Given the description of an element on the screen output the (x, y) to click on. 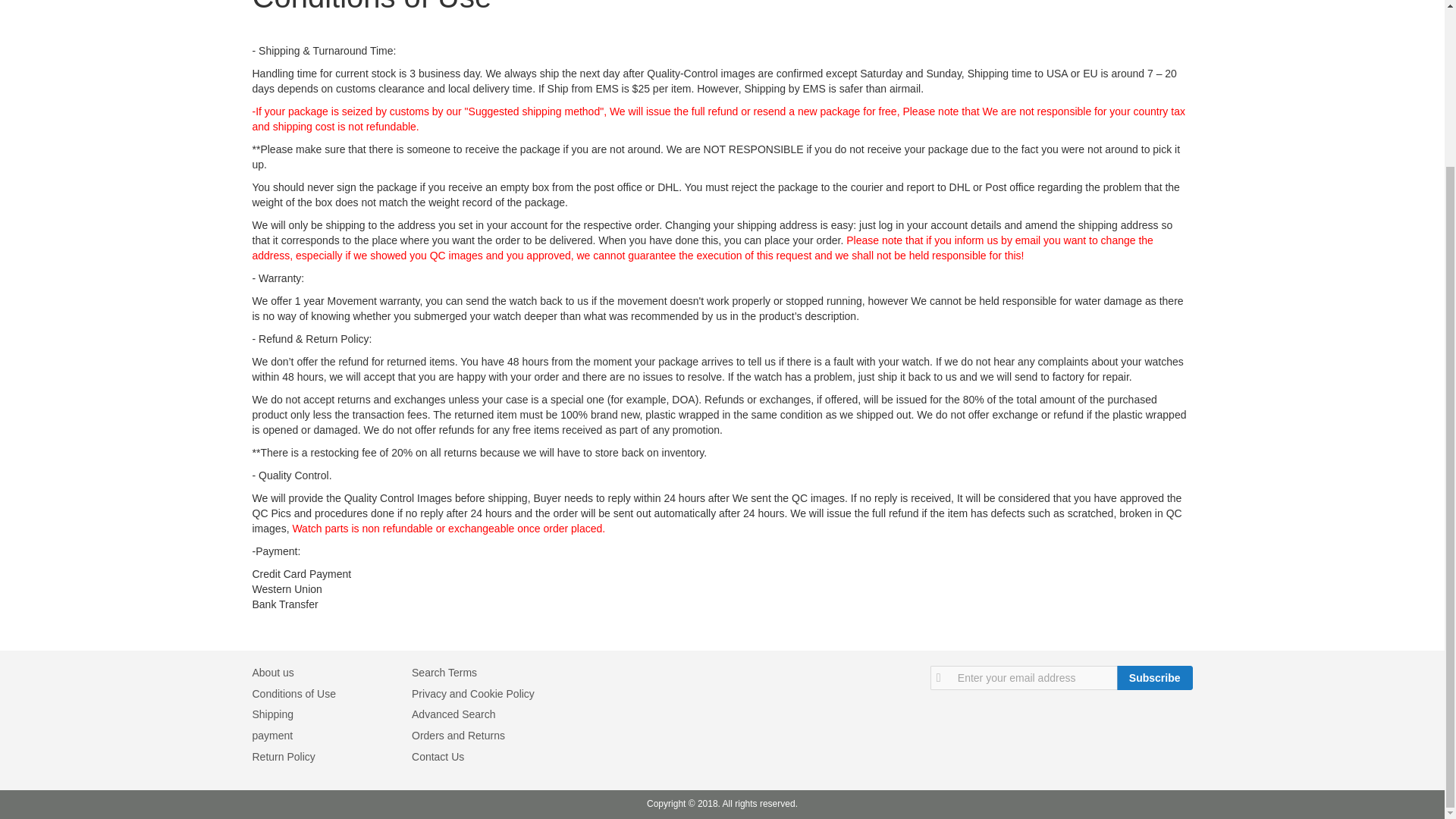
Opens a widget where you can chat to one of our agents (1386, 593)
Subscribe (1154, 677)
